Given the description of an element on the screen output the (x, y) to click on. 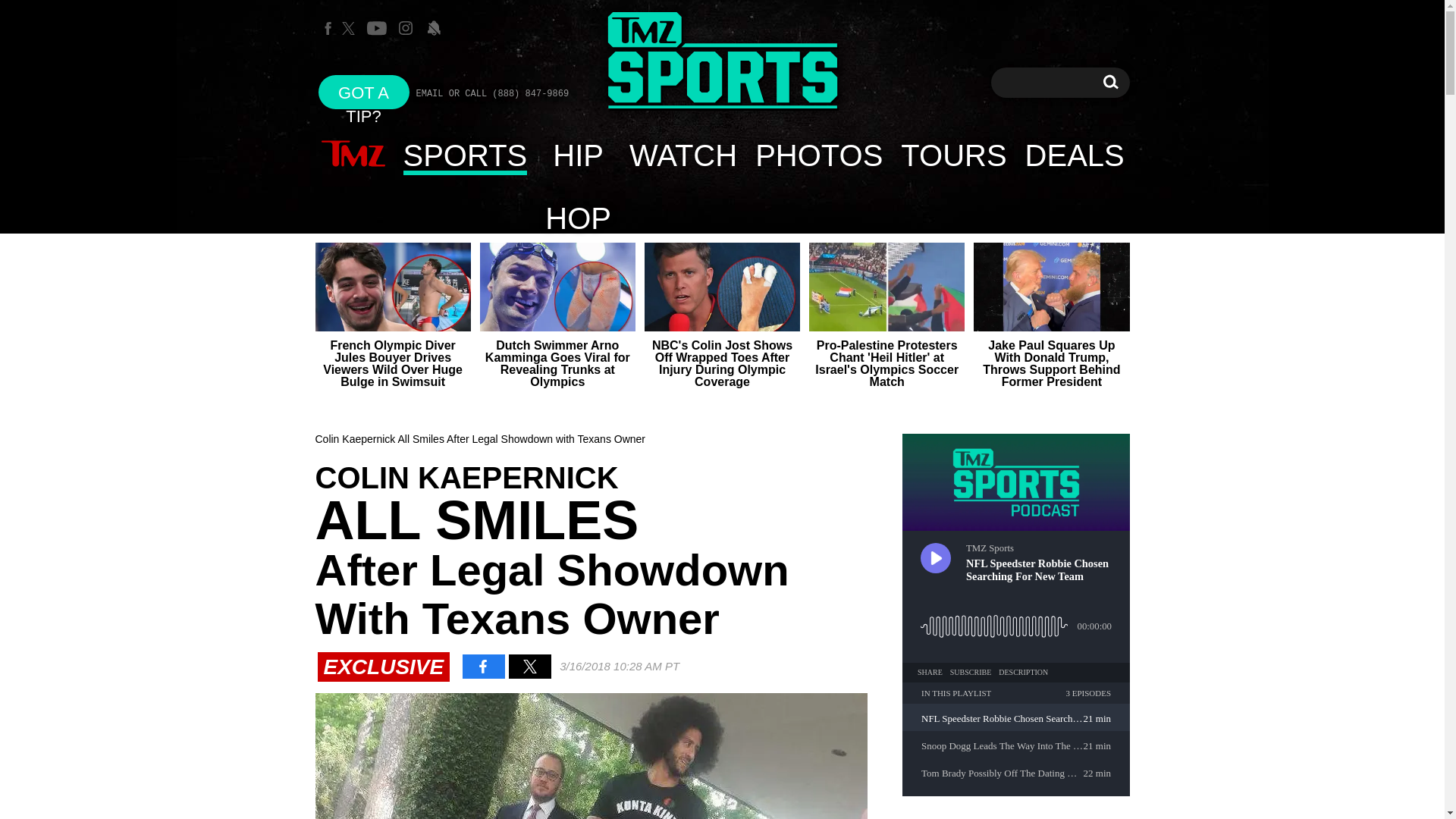
GOT A TIP? (363, 91)
PHOTOS (818, 154)
Search (1110, 81)
WATCH (682, 154)
TMZ Sports (722, 62)
NEWS (1110, 82)
DEALS (353, 154)
SPORTS (1075, 154)
TOURS (465, 154)
HIP HOP (952, 154)
TMZ Sports (577, 154)
